Given the description of an element on the screen output the (x, y) to click on. 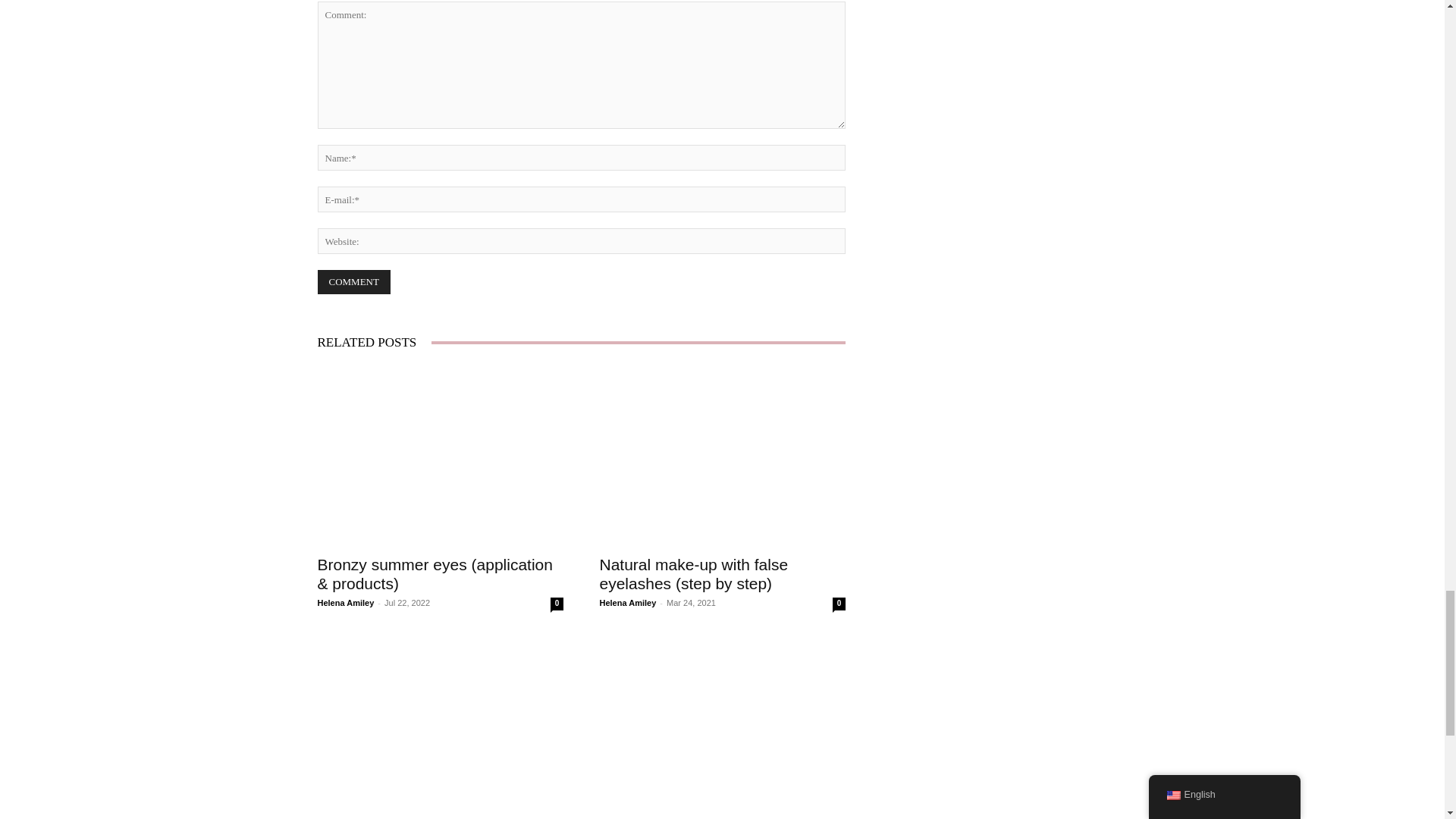
Comment (353, 282)
